Given the description of an element on the screen output the (x, y) to click on. 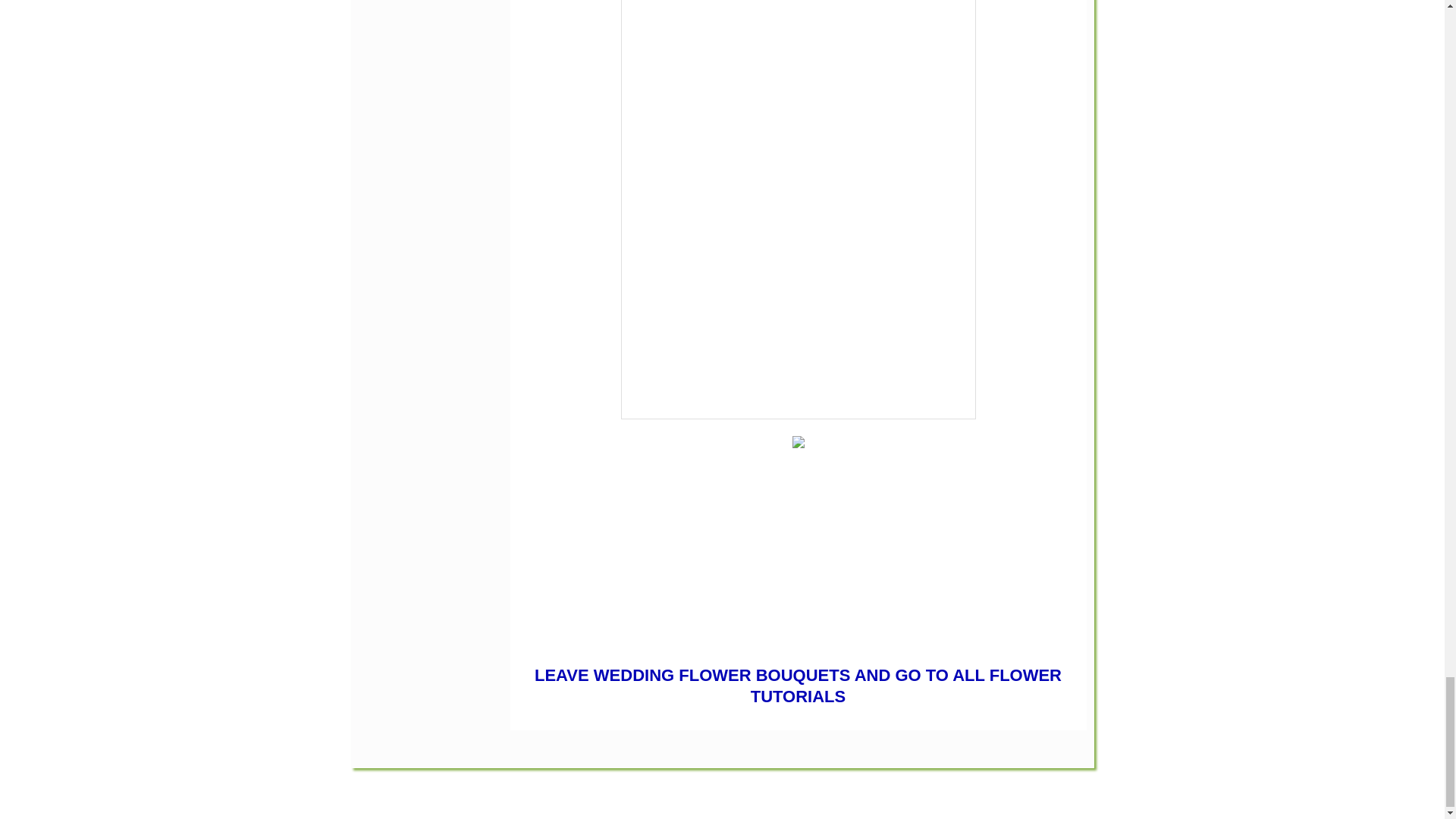
LEAVE WEDDING FLOWER BOUQUETS AND GO TO ALL FLOWER TUTORIALS (797, 685)
